Given the description of an element on the screen output the (x, y) to click on. 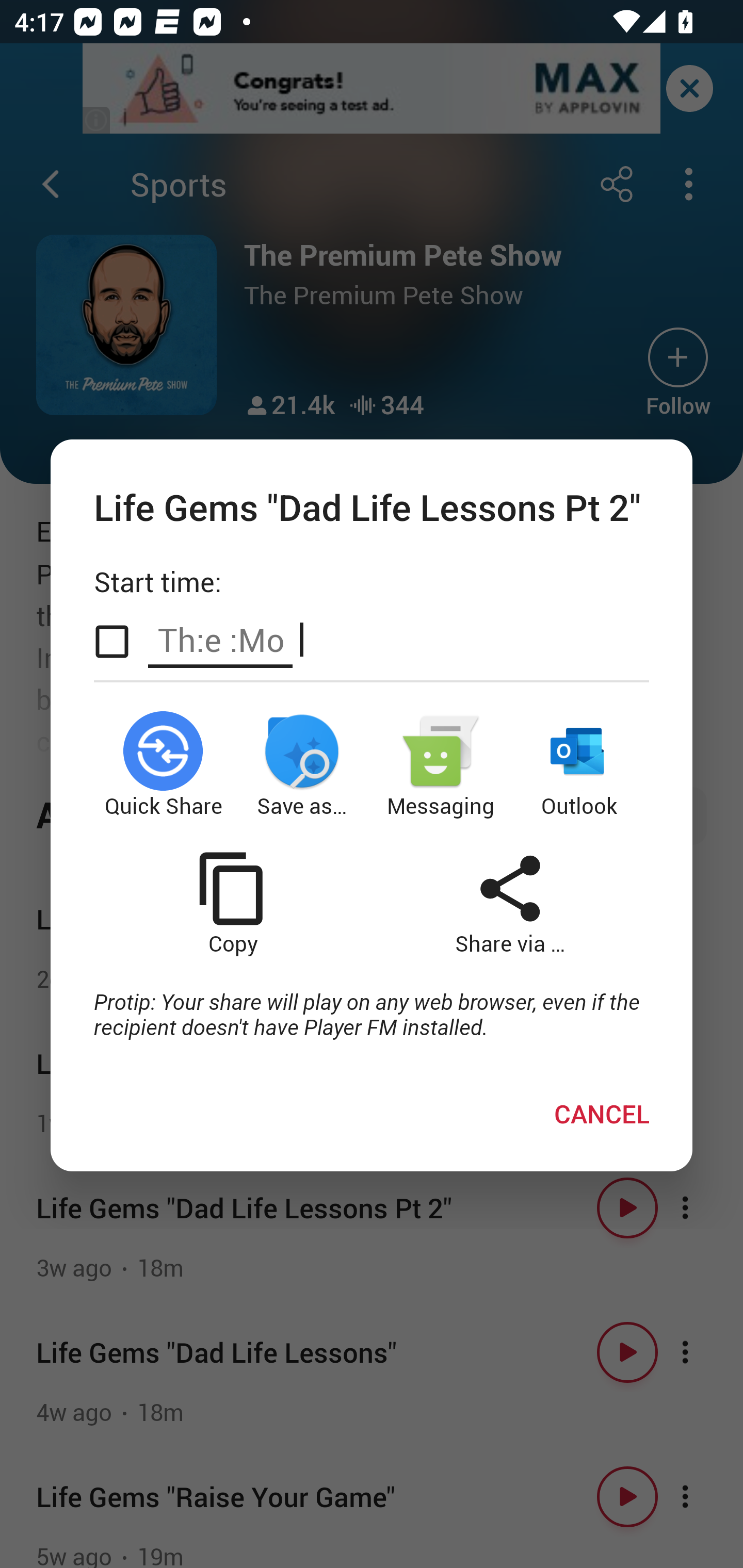
The Mo (220, 639)
Quick Share (163, 765)
Save as… (301, 765)
Messaging (440, 765)
Outlook (579, 765)
Copy (232, 903)
Share via … (509, 903)
CANCEL (600, 1113)
